Given the description of an element on the screen output the (x, y) to click on. 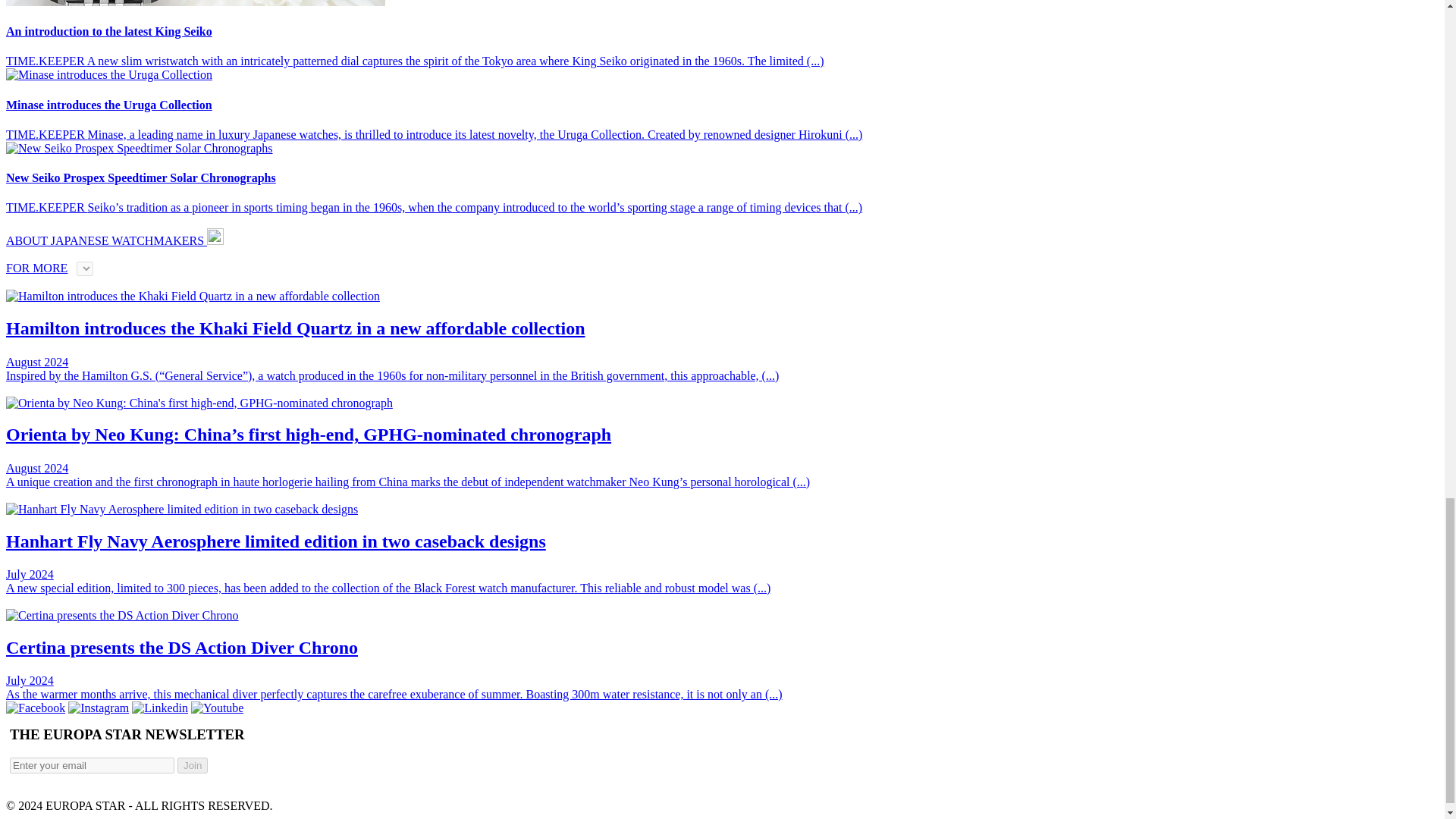
Facebook (35, 707)
Join (192, 765)
Youtube (217, 707)
Linkedin (159, 707)
Instagram (98, 707)
